Given the description of an element on the screen output the (x, y) to click on. 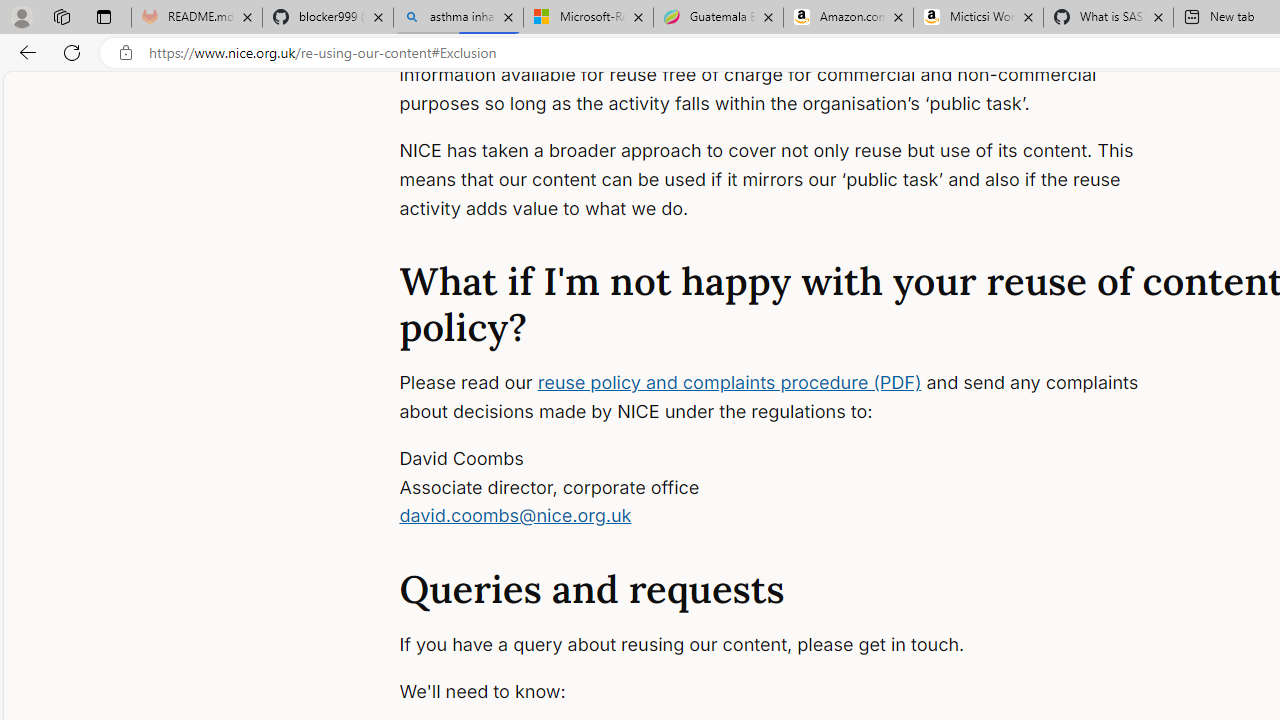
david.coombs@nice.org.uk (515, 515)
reuse policy and complaints procedure (PDF) (729, 382)
asthma inhaler - Search (458, 17)
